Given the description of an element on the screen output the (x, y) to click on. 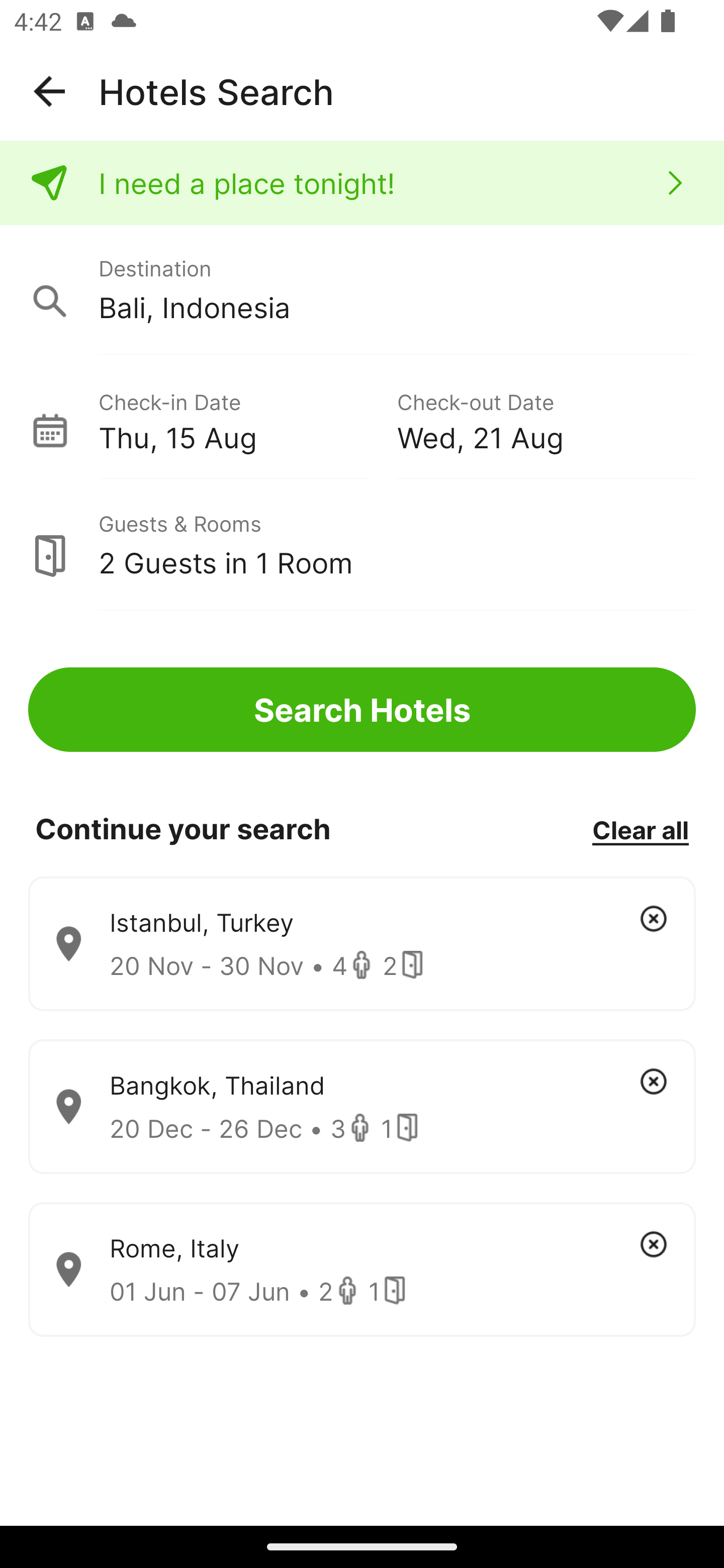
I need a place tonight! (362, 183)
Destination Bali, Indonesia (362, 290)
Check-in Date Thu, 15 Aug (247, 418)
Check-out Date Wed, 21 Aug (546, 418)
Guests & Rooms 2 Guests in 1 Room (362, 545)
Search Hotels (361, 709)
Clear all (640, 829)
Istanbul, Turkey 20 Nov - 30 Nov • 4  2  (361, 943)
Bangkok, Thailand 20 Dec - 26 Dec • 3  1  (361, 1106)
Rome, Italy 01 Jun - 07 Jun • 2  1  (361, 1269)
